Given the description of an element on the screen output the (x, y) to click on. 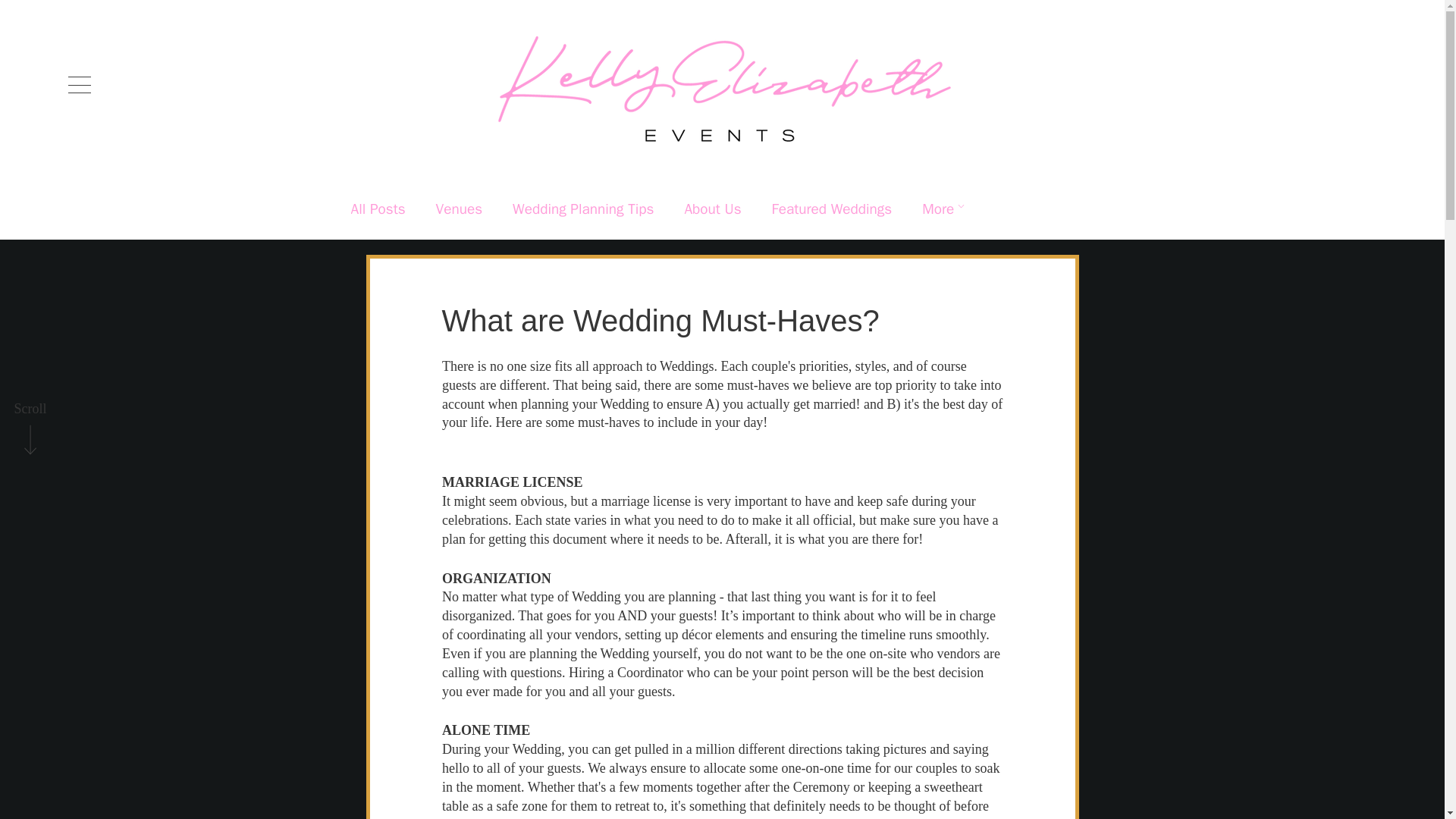
Featured Weddings (831, 209)
All Posts (377, 209)
Venues (458, 209)
About Us (712, 209)
Scroll (29, 409)
Wedding Planning Tips (582, 209)
